Given the description of an element on the screen output the (x, y) to click on. 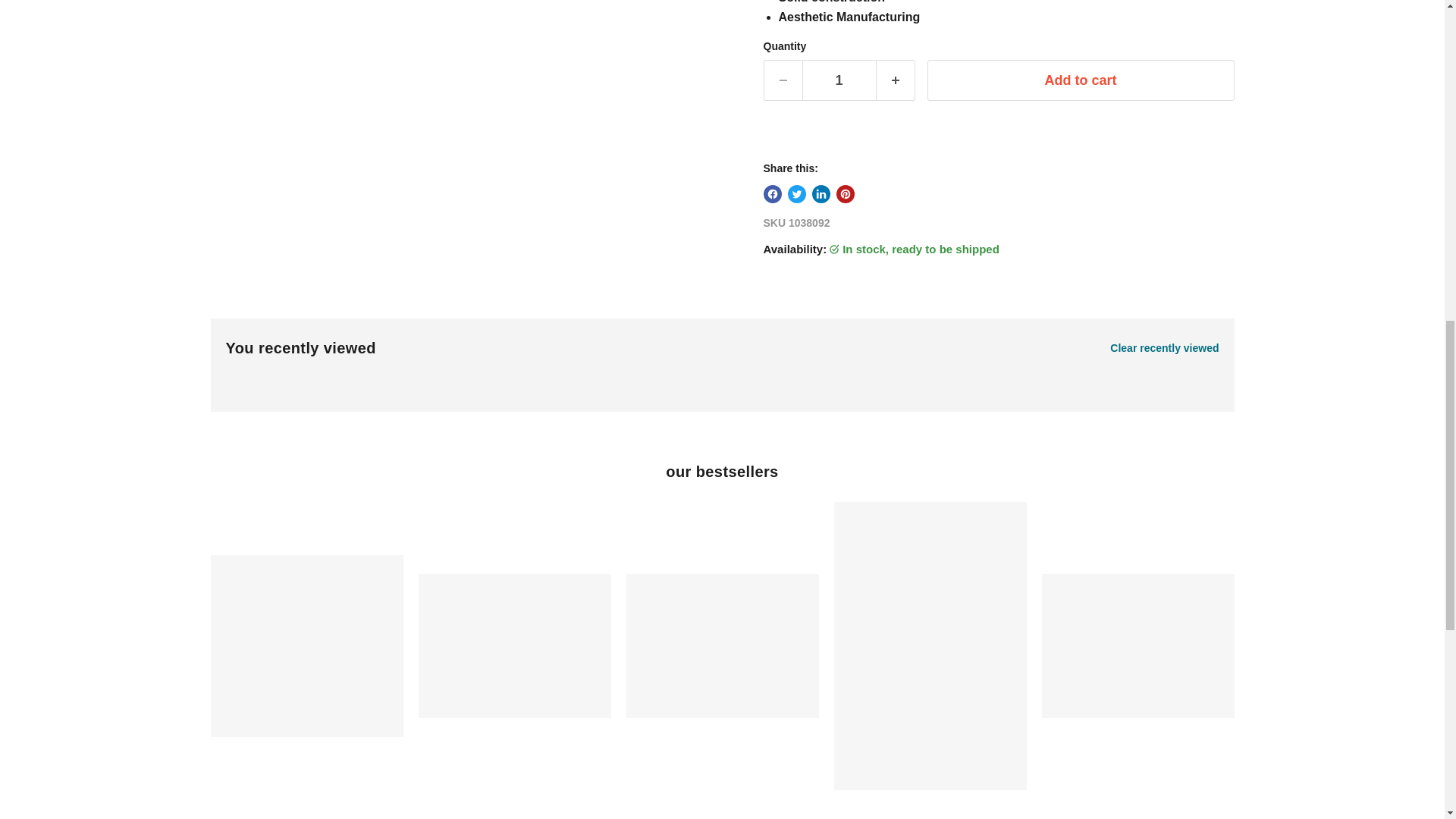
1 (839, 80)
